Given the description of an element on the screen output the (x, y) to click on. 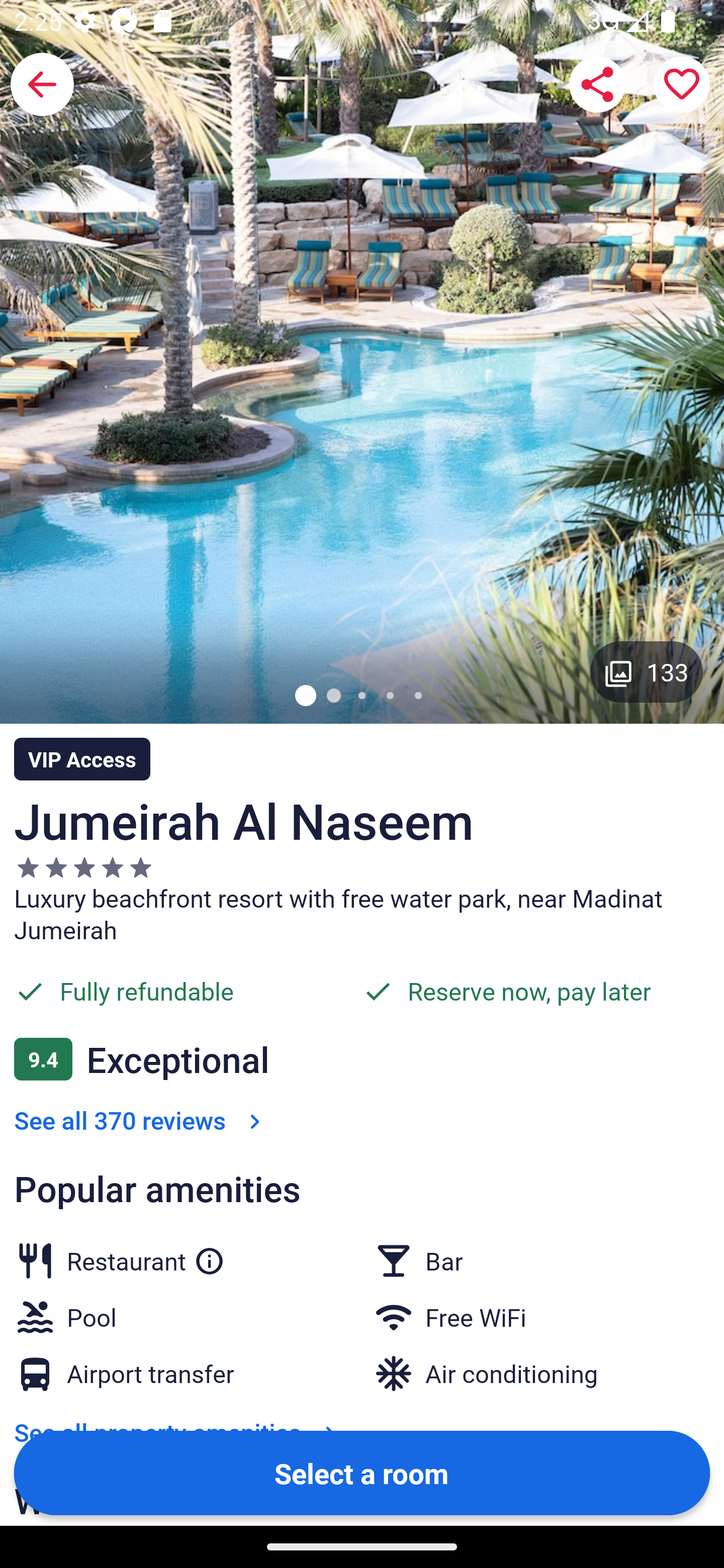
Back (42, 84)
Save property to a trip (681, 84)
Share Jumeirah Al Naseem (597, 84)
Gallery button with 133 images (646, 671)
See all 370 reviews See all 370 reviews Link (140, 1119)
Restaurant (145, 1257)
Select a room Button Select a room (361, 1472)
